Given the description of an element on the screen output the (x, y) to click on. 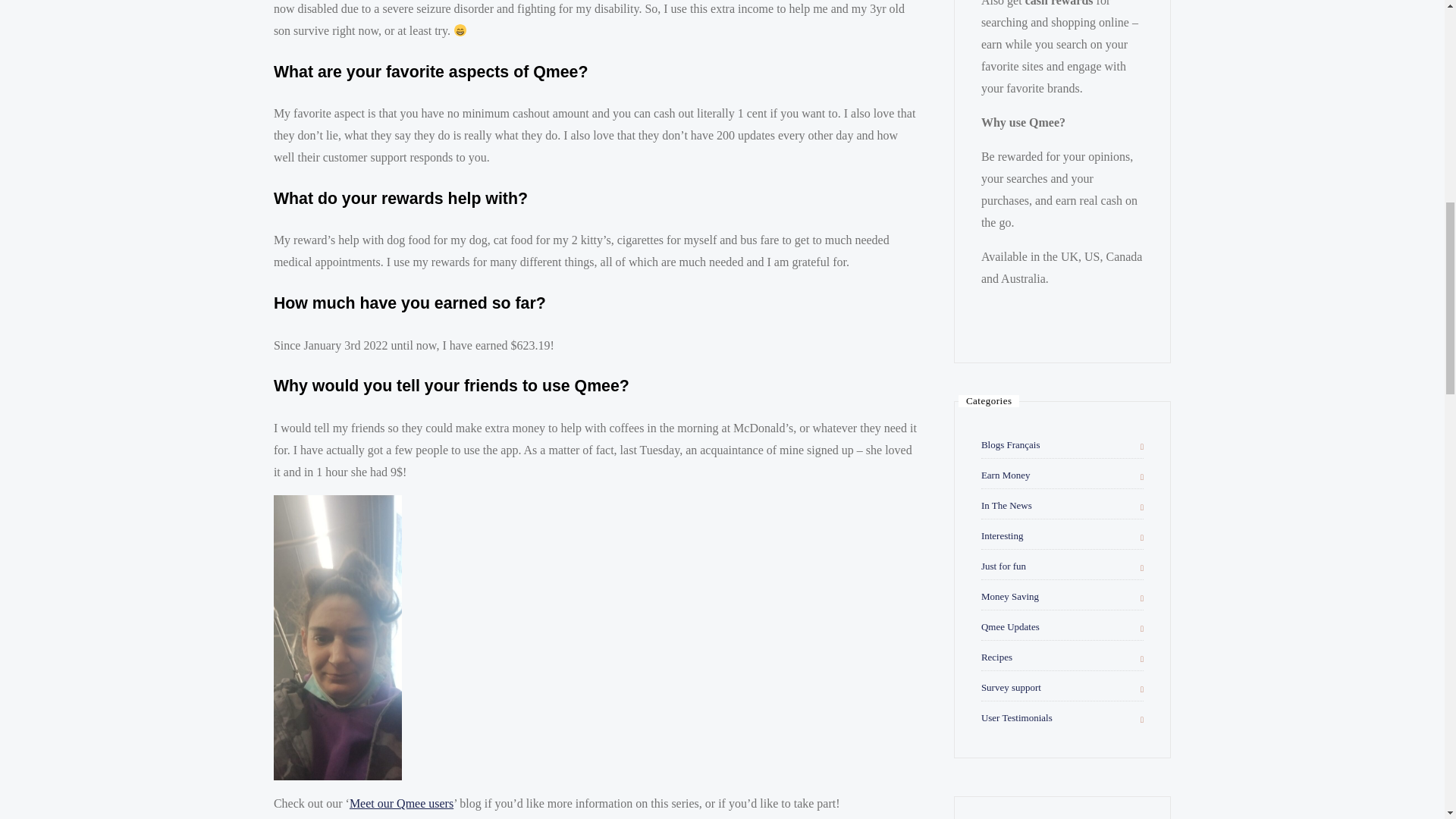
In The News (1006, 505)
Just for fun (1003, 566)
Earn Money (1005, 475)
Qmee Updates (1010, 626)
Recipes (996, 657)
Money Saving (1010, 596)
Interesting (1002, 535)
Meet our Qmee users (400, 802)
